Given the description of an element on the screen output the (x, y) to click on. 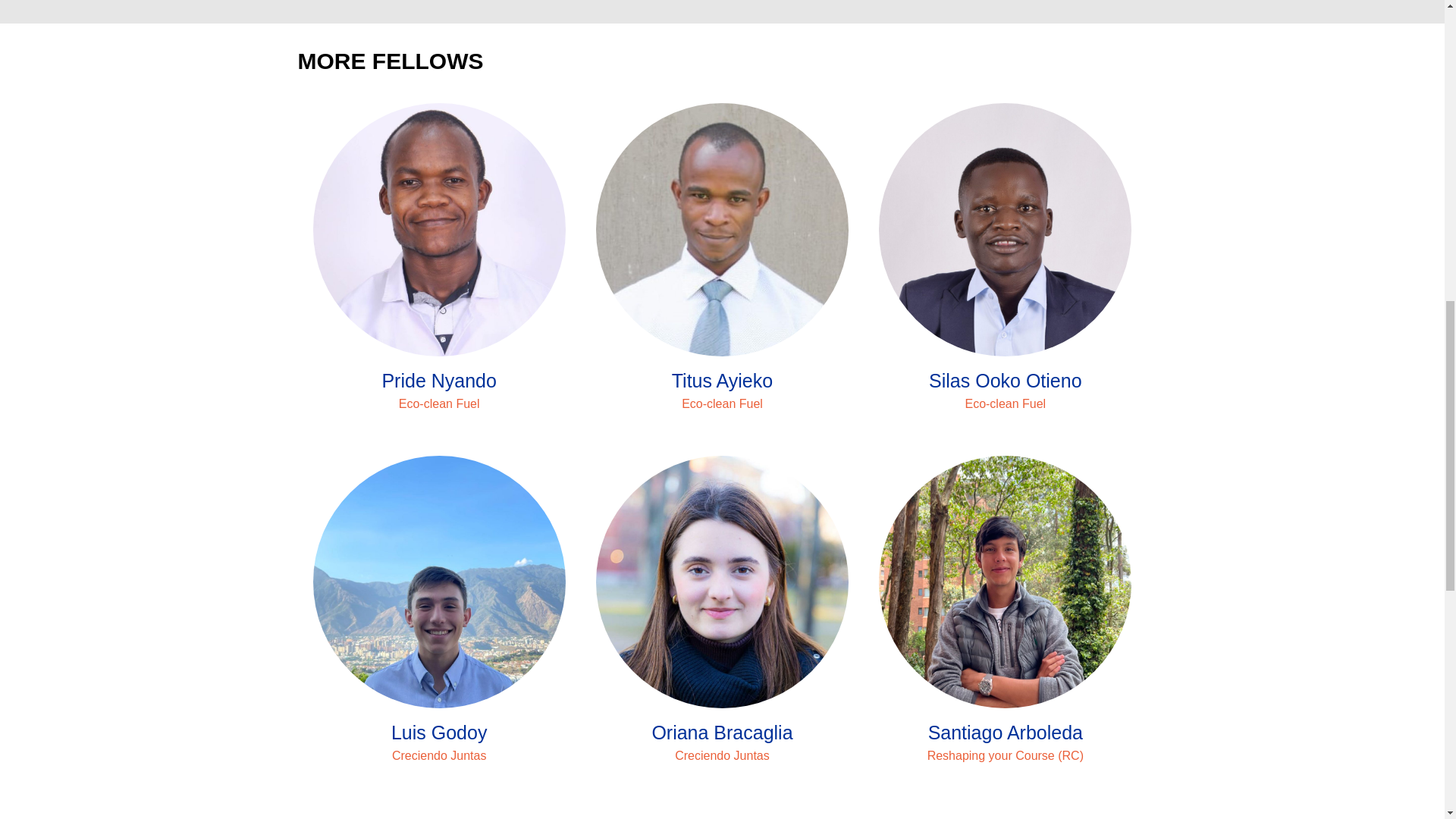
Santiago Arboleda Headshot (1005, 581)
